Given the description of an element on the screen output the (x, y) to click on. 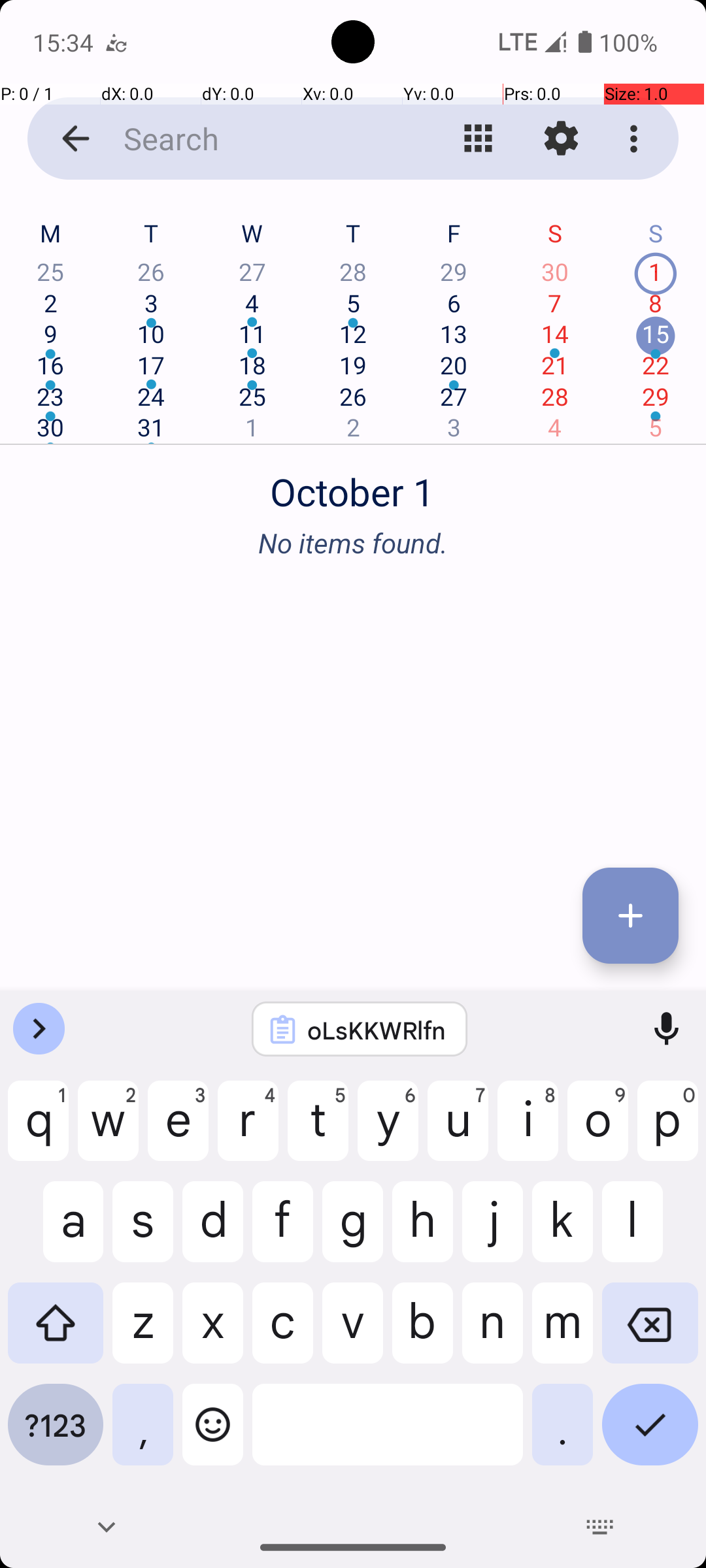
October 1 Element type: android.widget.TextView (352, 483)
oLsKKWRlfn Element type: android.widget.TextView (376, 1029)
